Given the description of an element on the screen output the (x, y) to click on. 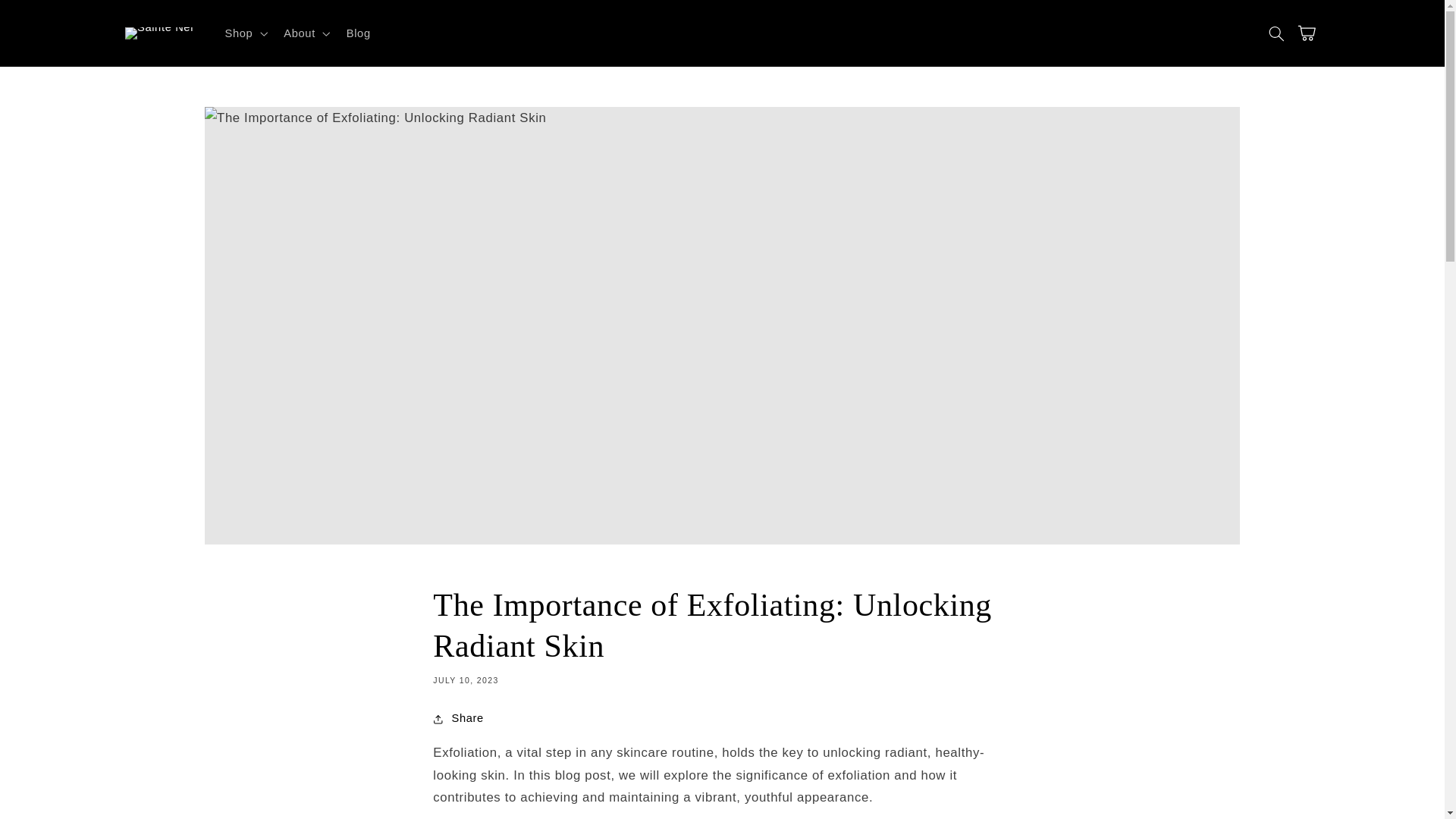
Cart (1310, 32)
Blog (358, 32)
Skip to content (47, 17)
